Given the description of an element on the screen output the (x, y) to click on. 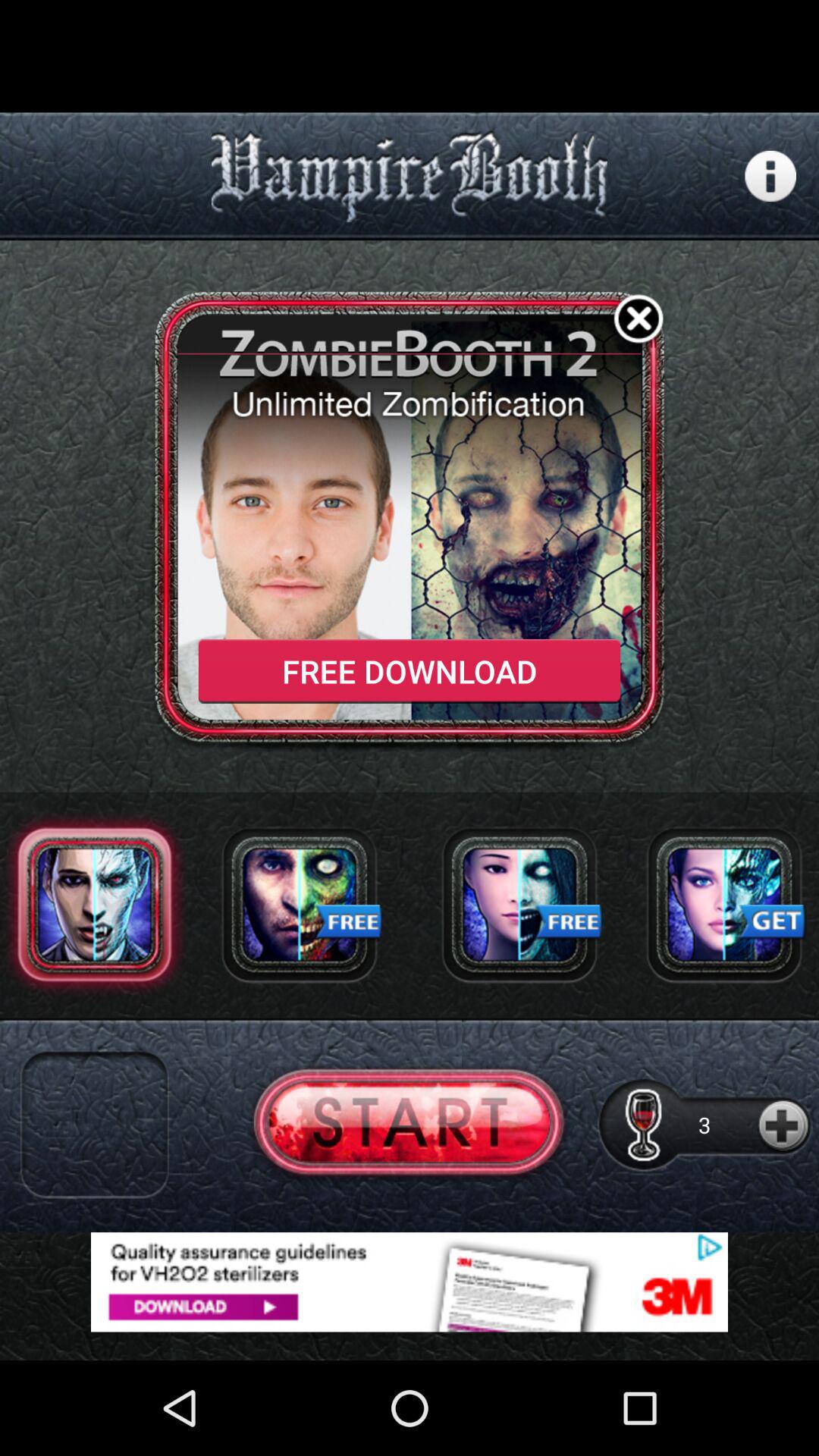
games page (724, 904)
